Given the description of an element on the screen output the (x, y) to click on. 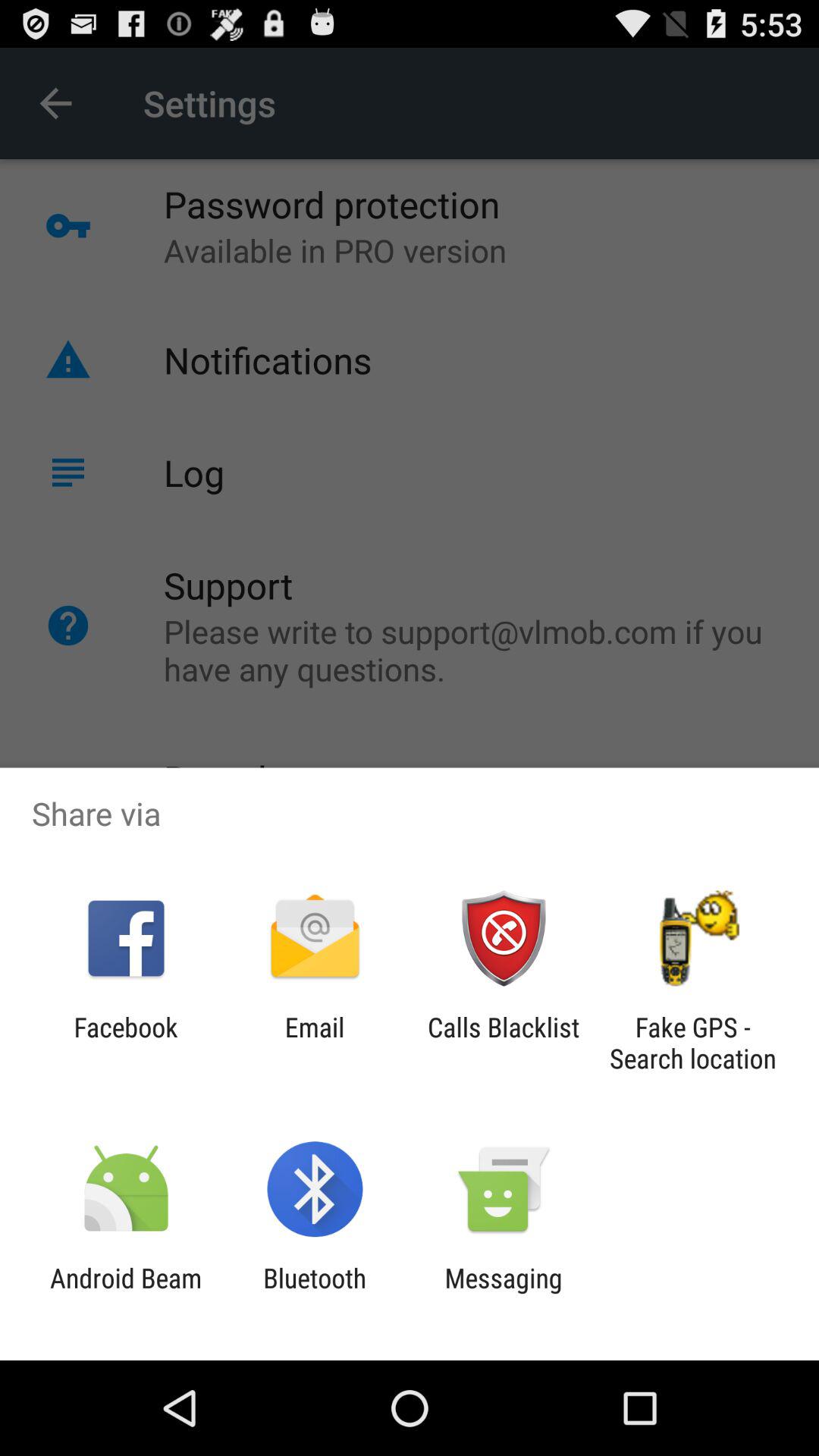
choose the item to the left of the messaging app (314, 1293)
